Given the description of an element on the screen output the (x, y) to click on. 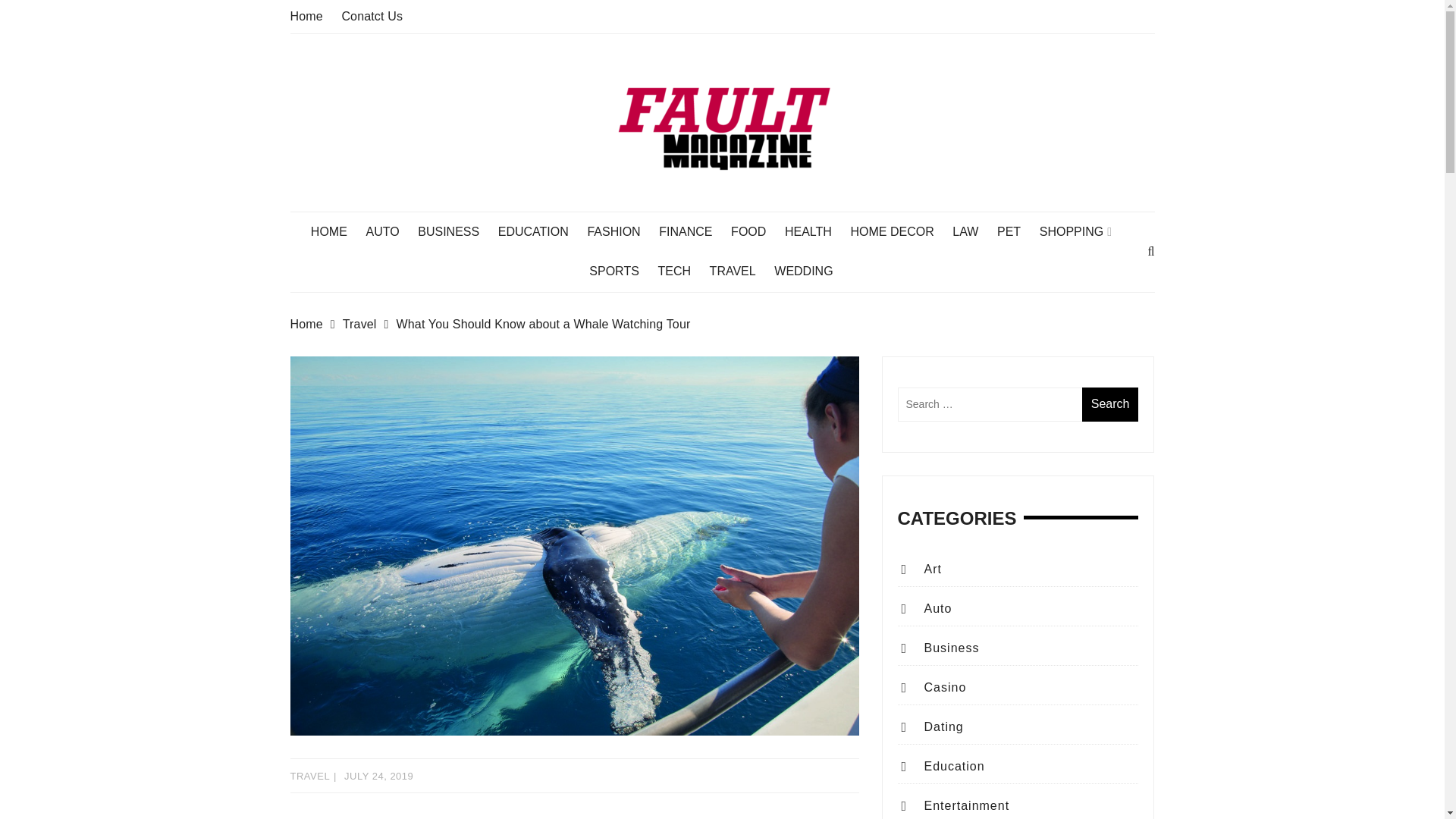
FINANCE (692, 231)
HOME (336, 231)
PET (1016, 231)
WEDDING (810, 271)
SPORTS (621, 271)
TECH (682, 271)
SHOPPING (1082, 231)
HOME DECOR (899, 231)
Home (315, 324)
AUTO (389, 231)
Search (1109, 404)
TRAVEL (740, 271)
Search (1109, 404)
Travel (369, 324)
JULY 24, 2019 (378, 776)
